Given the description of an element on the screen output the (x, y) to click on. 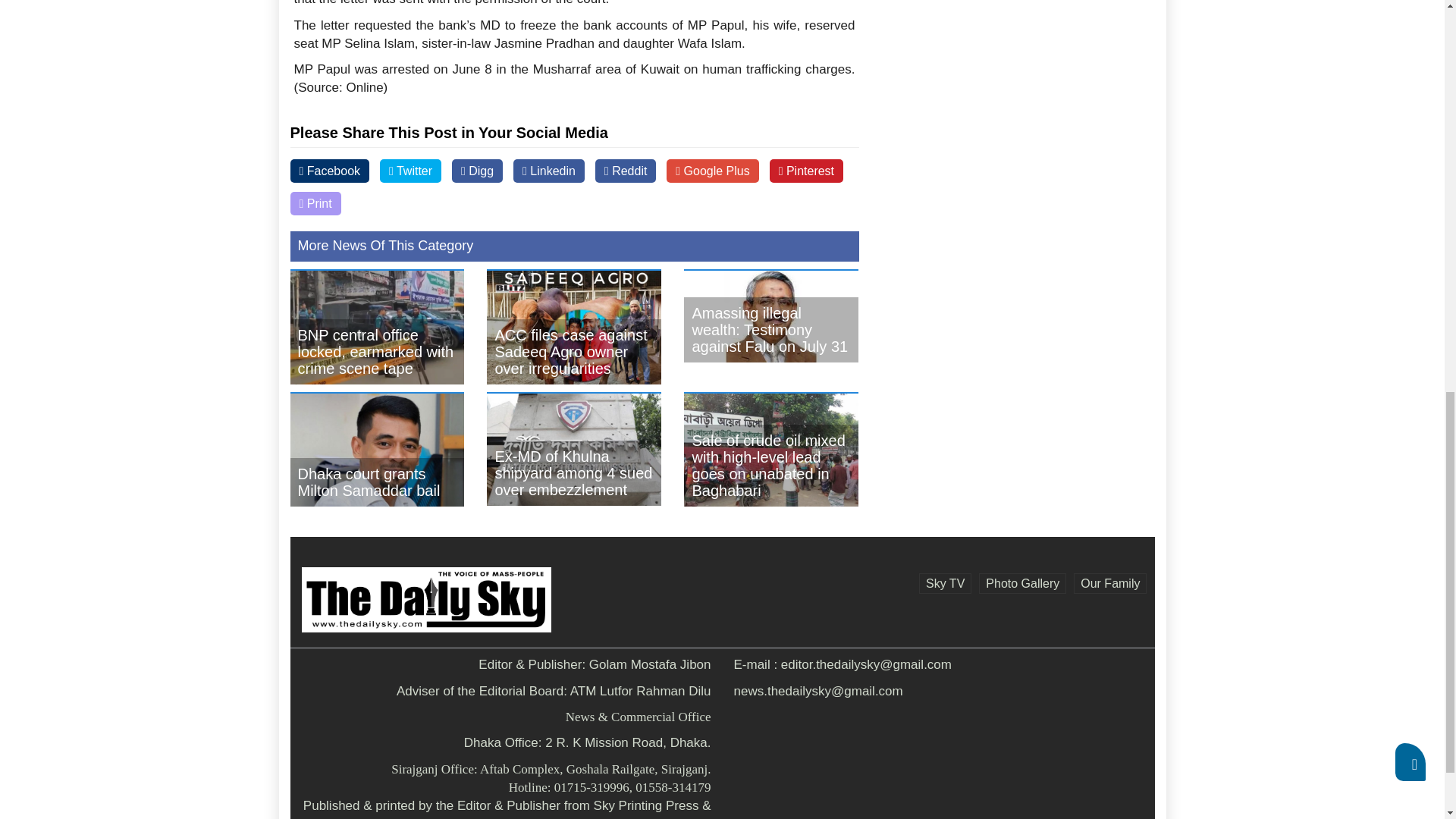
Facebook (329, 170)
Linkedin (549, 170)
Digg (476, 170)
Twitter (410, 170)
